Given the description of an element on the screen output the (x, y) to click on. 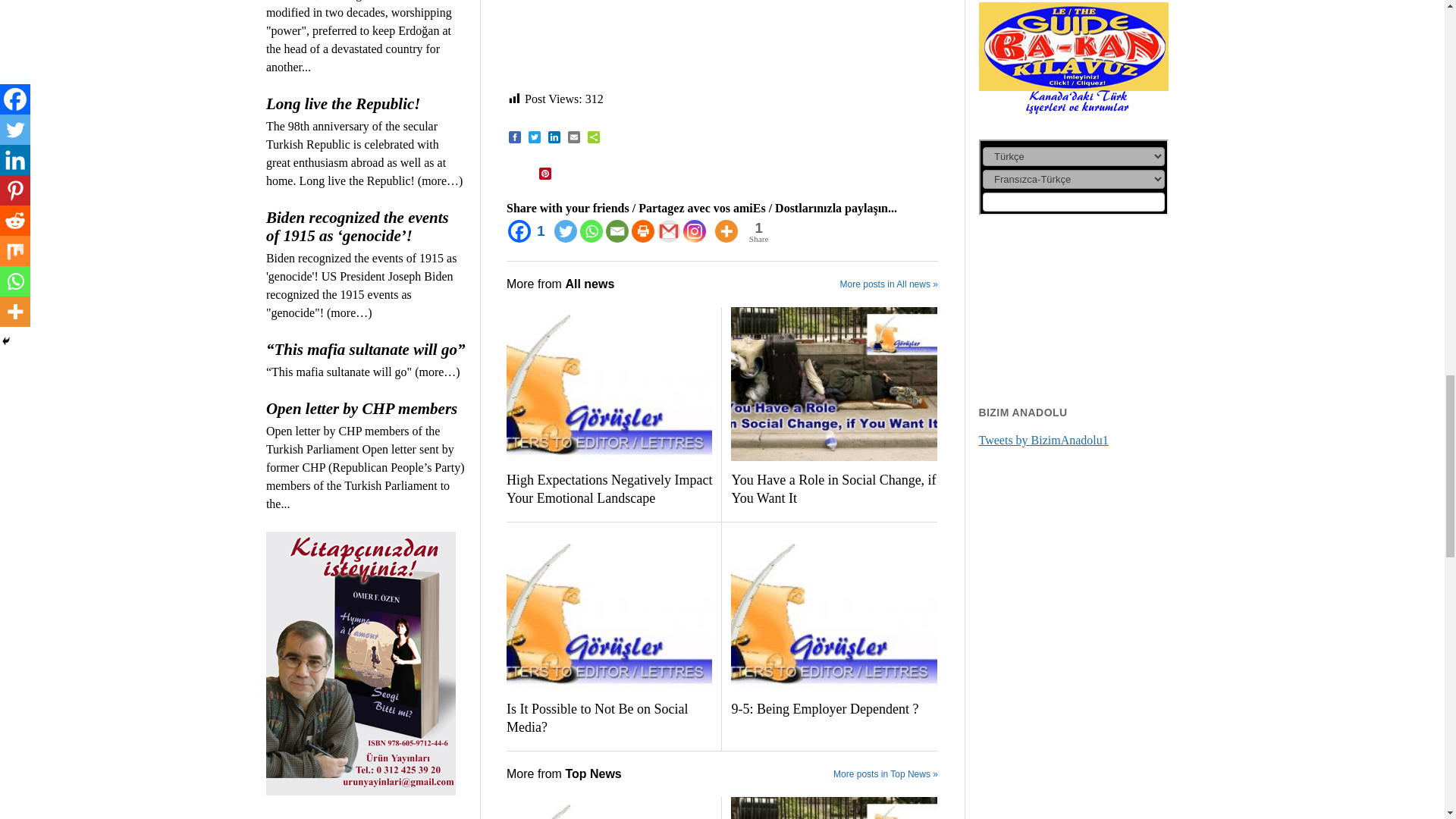
1 (529, 231)
Email (616, 231)
Google Gmail (668, 231)
Print (642, 231)
Twitter (565, 231)
Long live the Republic! (365, 104)
Facebook (529, 231)
Instagram (694, 231)
More (726, 231)
Open letter by CHP members (365, 408)
